Given the description of an element on the screen output the (x, y) to click on. 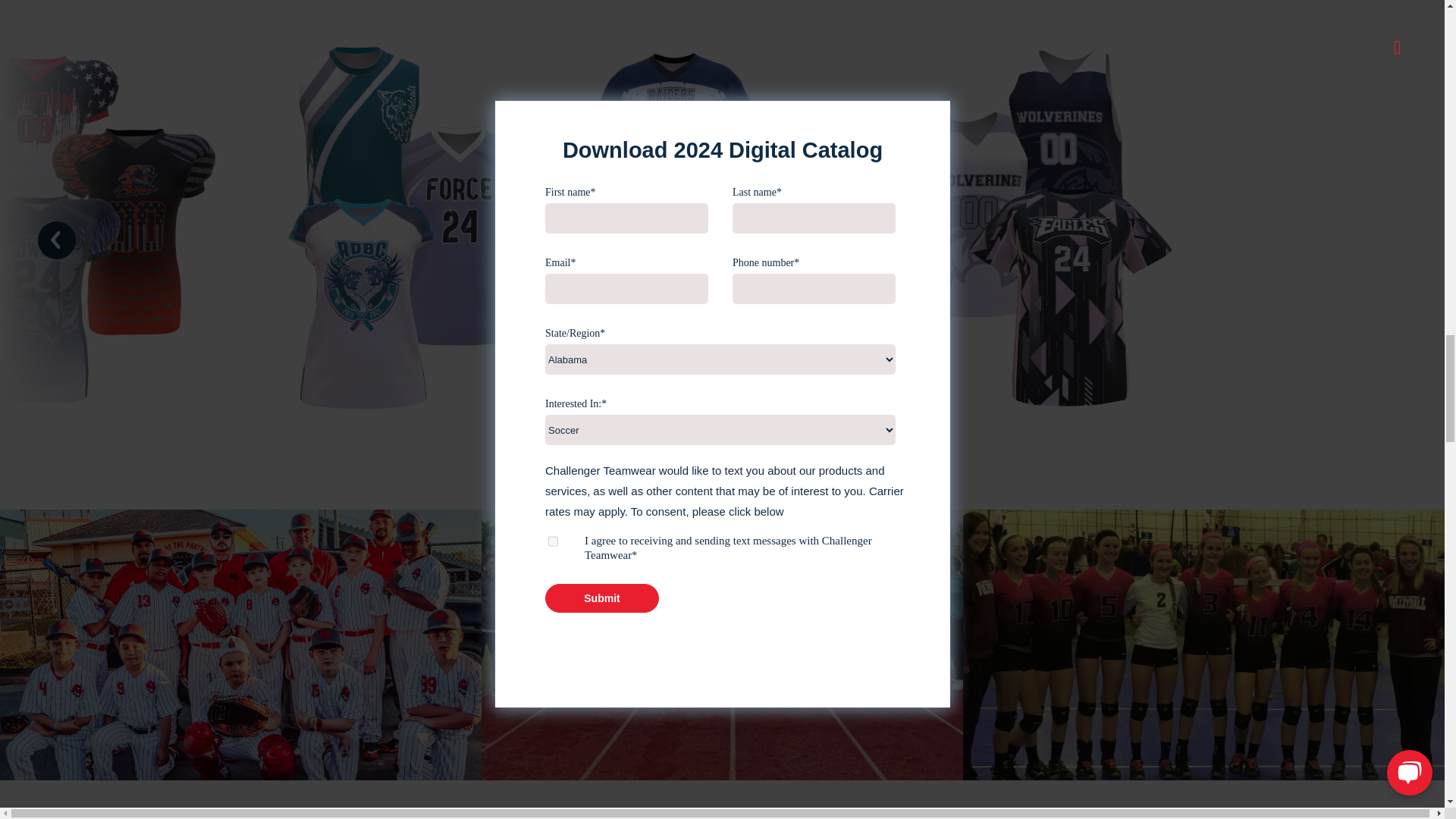
6 (1203, 644)
5 (240, 644)
7 (721, 644)
